Given the description of an element on the screen output the (x, y) to click on. 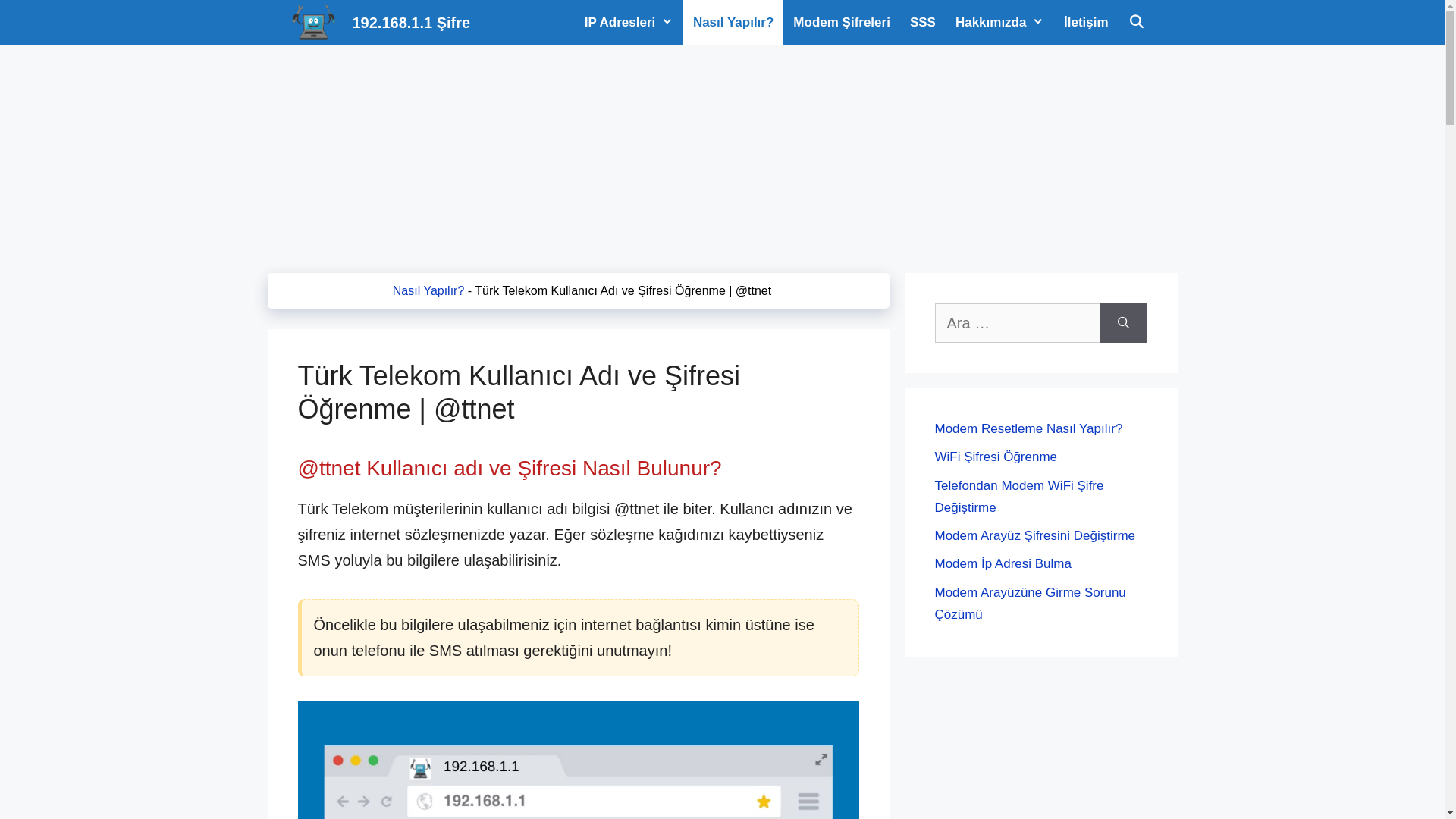
IP Adresleri Element type: text (628, 22)
SSS Element type: text (922, 22)
Advertisement Element type: hover (721, 151)
